Given the description of an element on the screen output the (x, y) to click on. 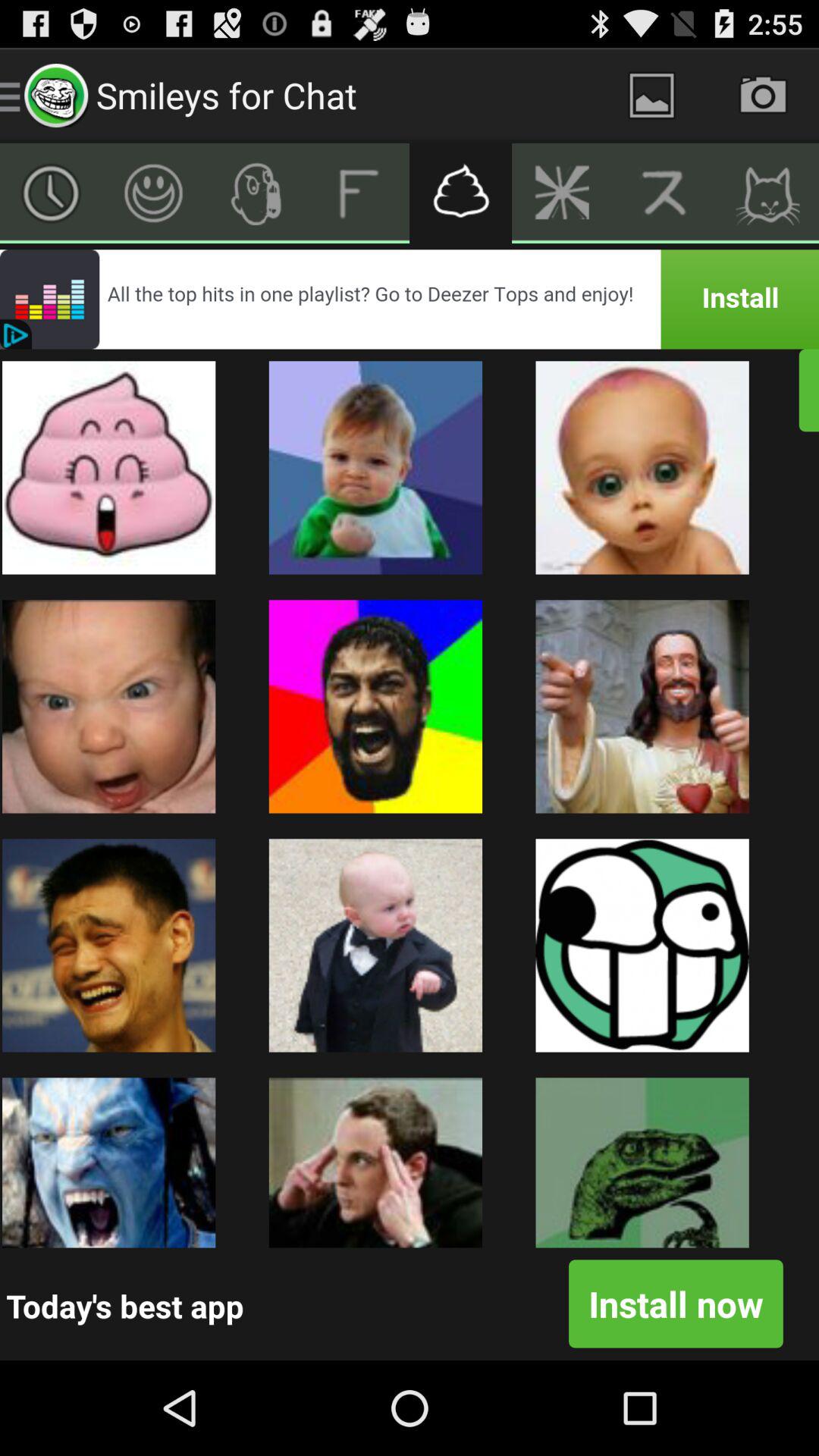
to show the timer or timing (51, 193)
